Given the description of an element on the screen output the (x, y) to click on. 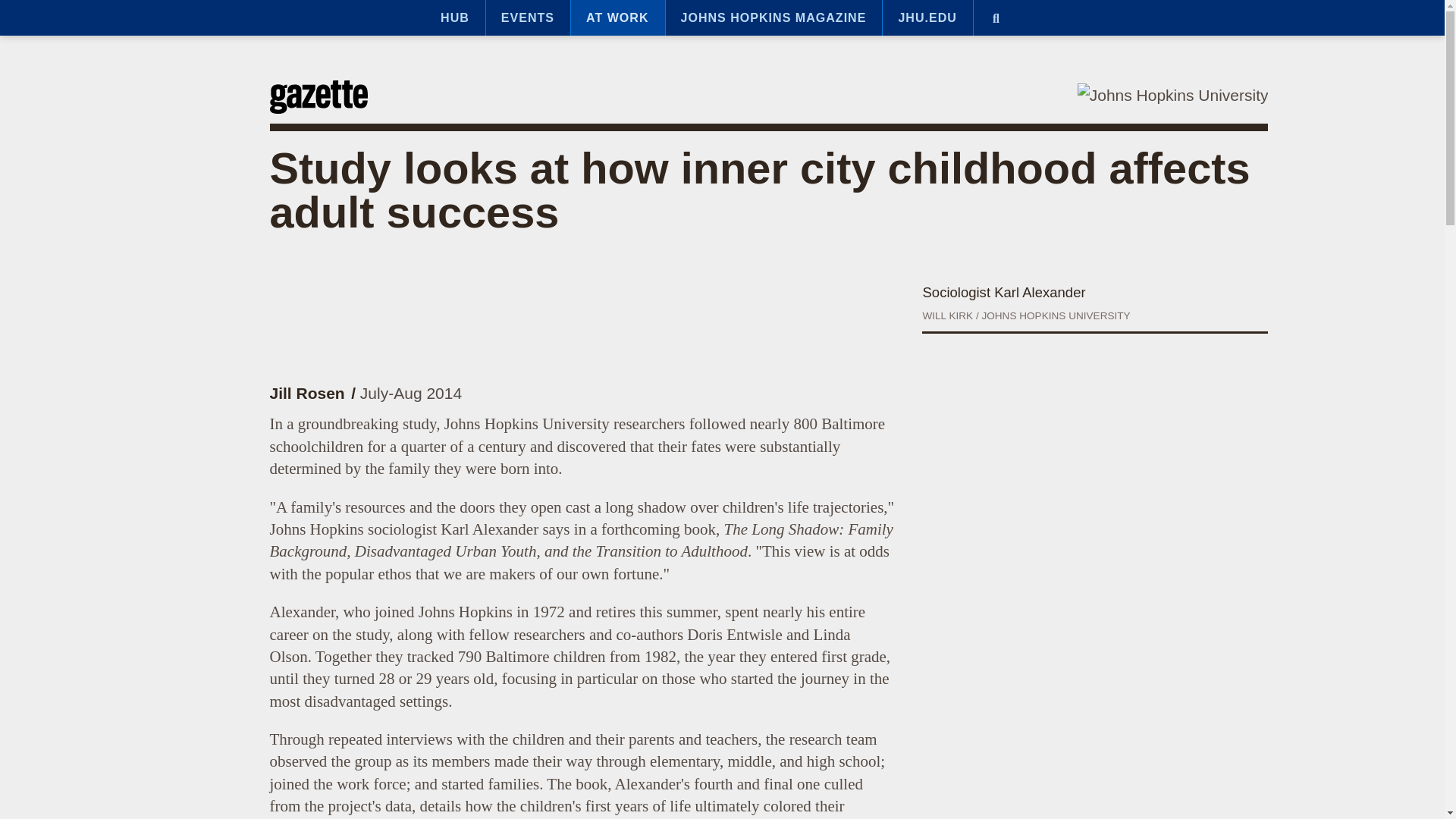
JOHNS HOPKINS MAGAZINE (773, 18)
Johns Hopkins University (1172, 95)
AT WORK (616, 18)
JHU.EDU (927, 18)
EVENTS (527, 18)
HUB (454, 18)
